Given the description of an element on the screen output the (x, y) to click on. 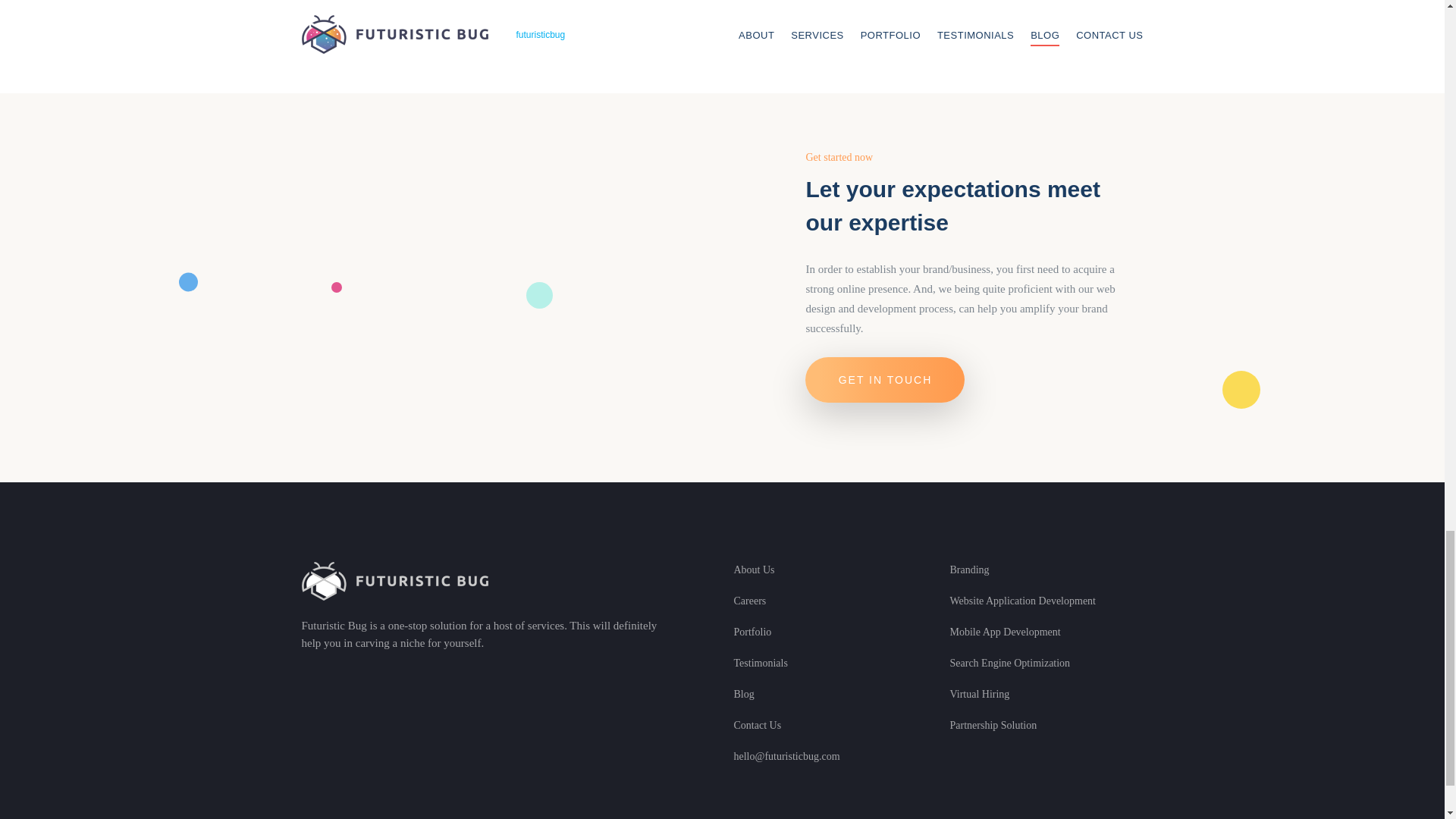
Partnership Solution (992, 725)
Testimonials (760, 662)
About Us (753, 569)
Blog (743, 693)
GET IN TOUCH (884, 379)
Virtual Hiring (979, 693)
Mobile App Development (1004, 631)
Contact Us (757, 725)
Careers (750, 600)
Branding (968, 569)
